Given the description of an element on the screen output the (x, y) to click on. 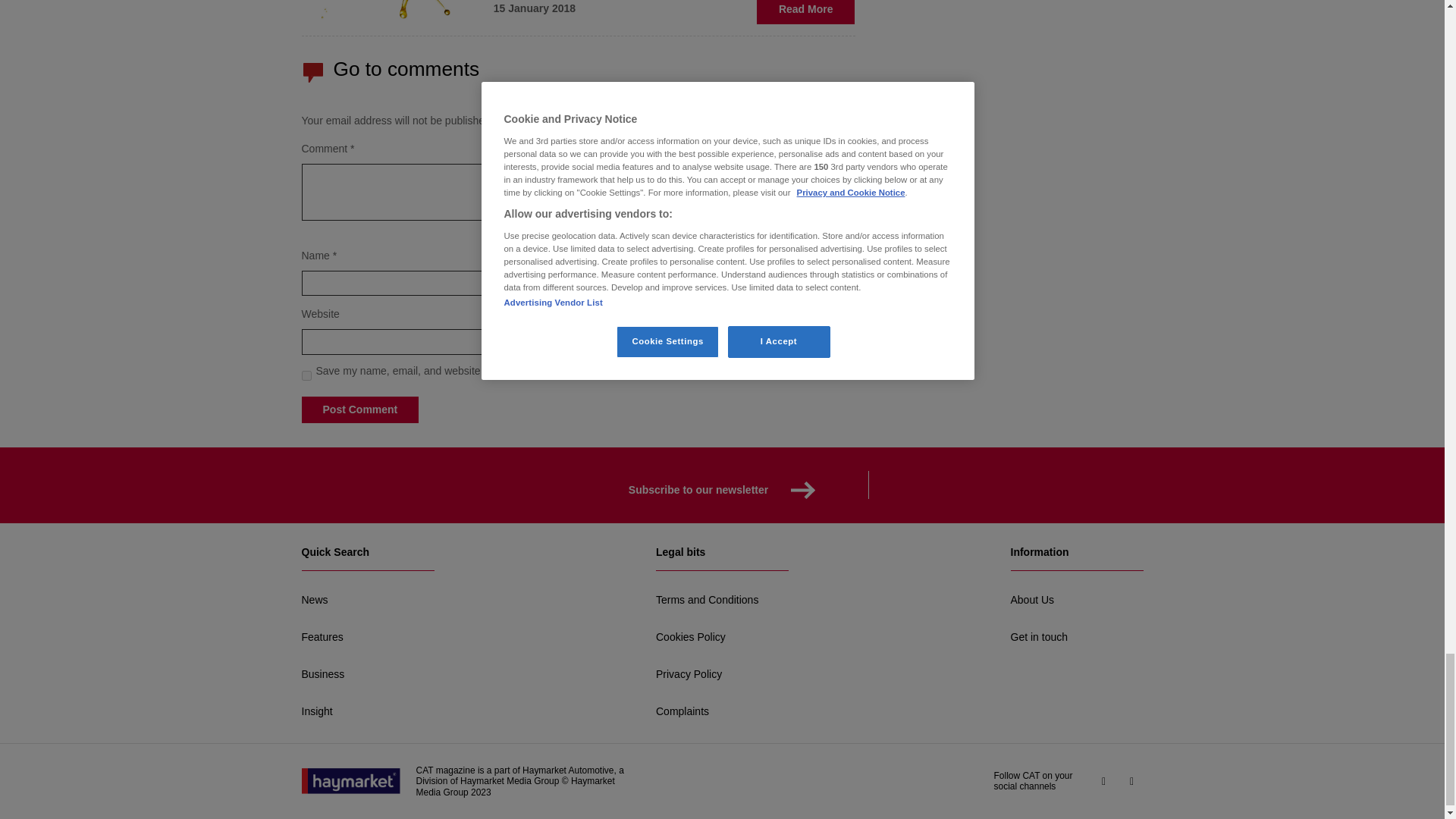
Post Comment (360, 409)
